Given the description of an element on the screen output the (x, y) to click on. 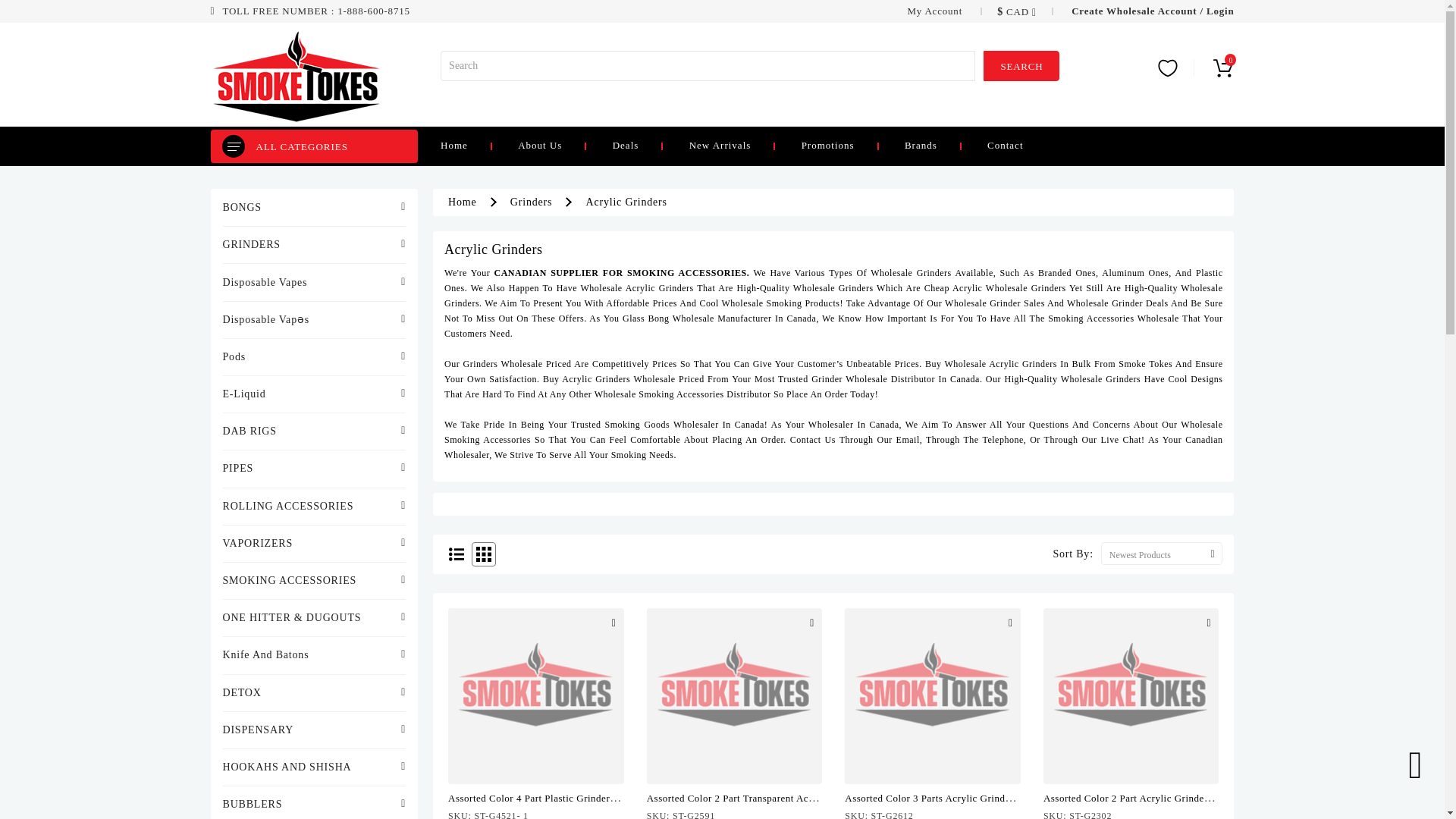
Assorted Color 4 Part Plastic Grinders Display Of 12 (536, 695)
About Us (563, 144)
Home (478, 144)
My Account (936, 10)
Smoke Tokes (296, 74)
Contact (1027, 144)
0 (1222, 67)
Assorted Color 3 Parts Acrylic Grinder Display Of 24 (932, 695)
SEARCH (1021, 65)
Wishlist (1183, 66)
New Arrivals (742, 144)
Promotions (851, 144)
Assorted Color 2 Part Acrylic Grinder Display Of 24 (1131, 695)
Brands (944, 144)
